Given the description of an element on the screen output the (x, y) to click on. 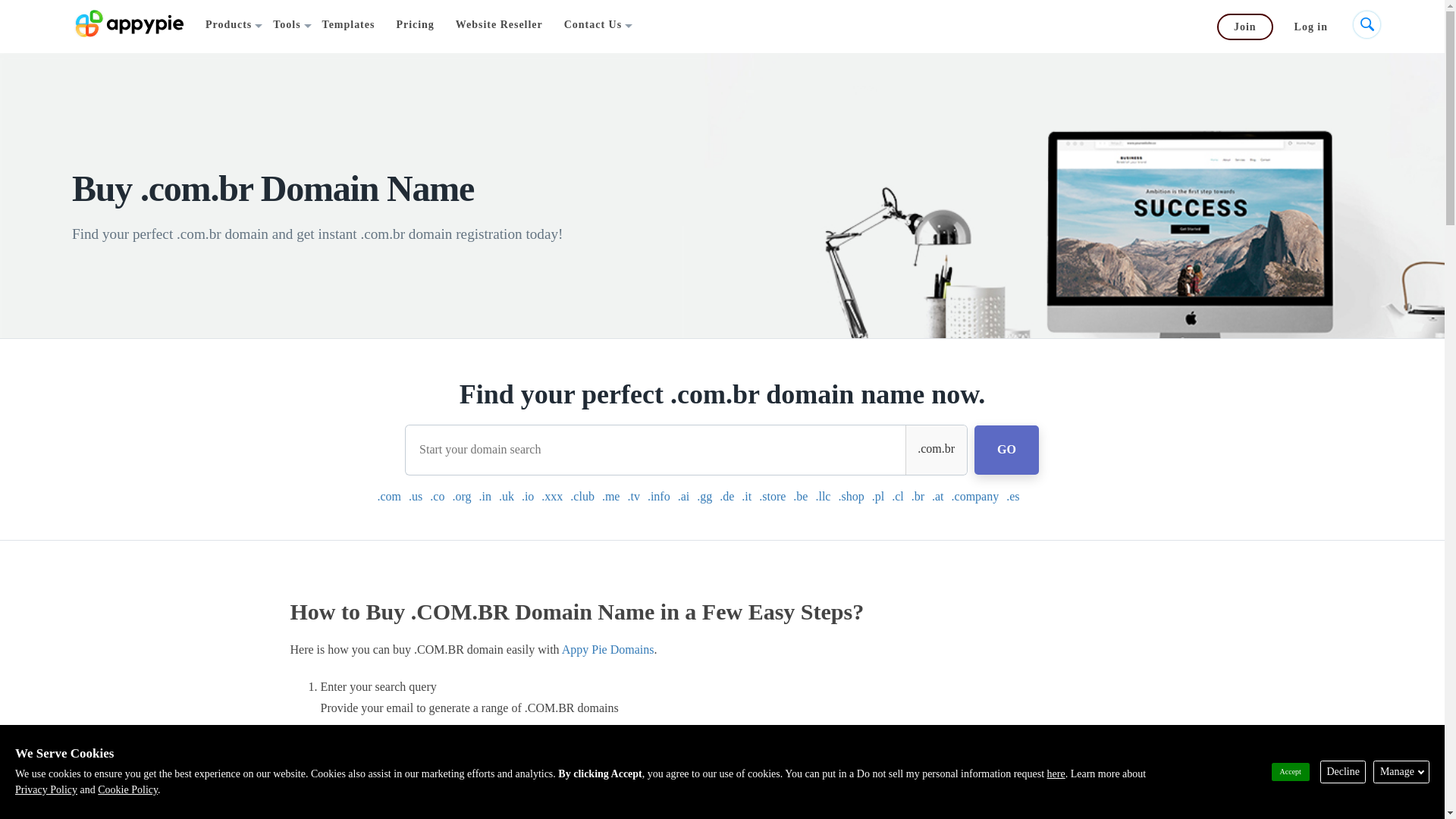
Website Reseller Program (499, 25)
Templates (348, 25)
GO (1006, 450)
Pricing (414, 25)
Join (1244, 26)
Website Reseller (499, 25)
Go (13, 11)
SEO Tools (285, 25)
Log in (1310, 27)
Contact Us (592, 25)
Products (228, 25)
Tools (285, 25)
Products (228, 25)
.com (388, 496)
Website Pricing Plans (414, 25)
